Given the description of an element on the screen output the (x, y) to click on. 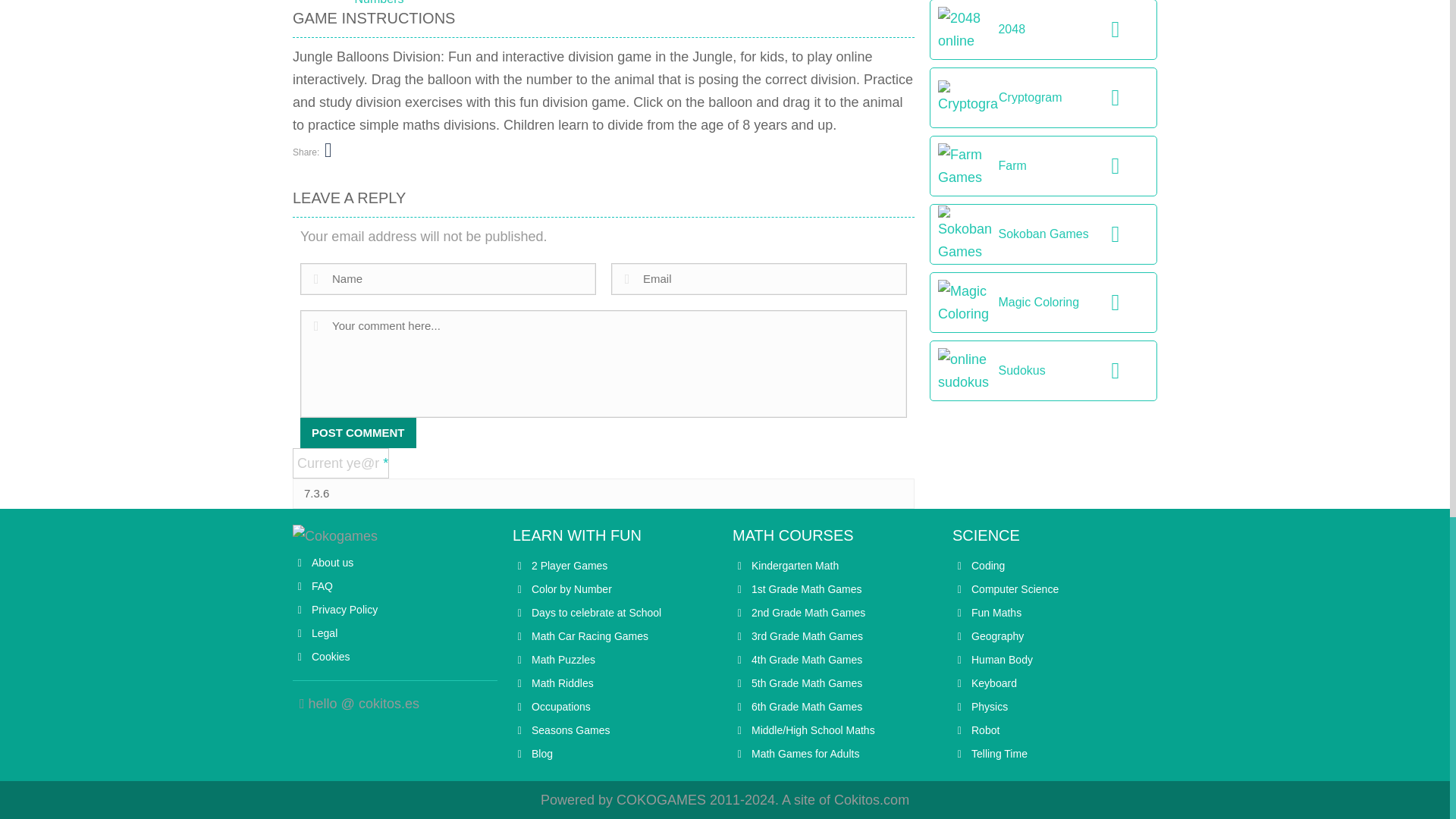
7.3.6 (603, 493)
Post Comment (357, 432)
